Given the description of an element on the screen output the (x, y) to click on. 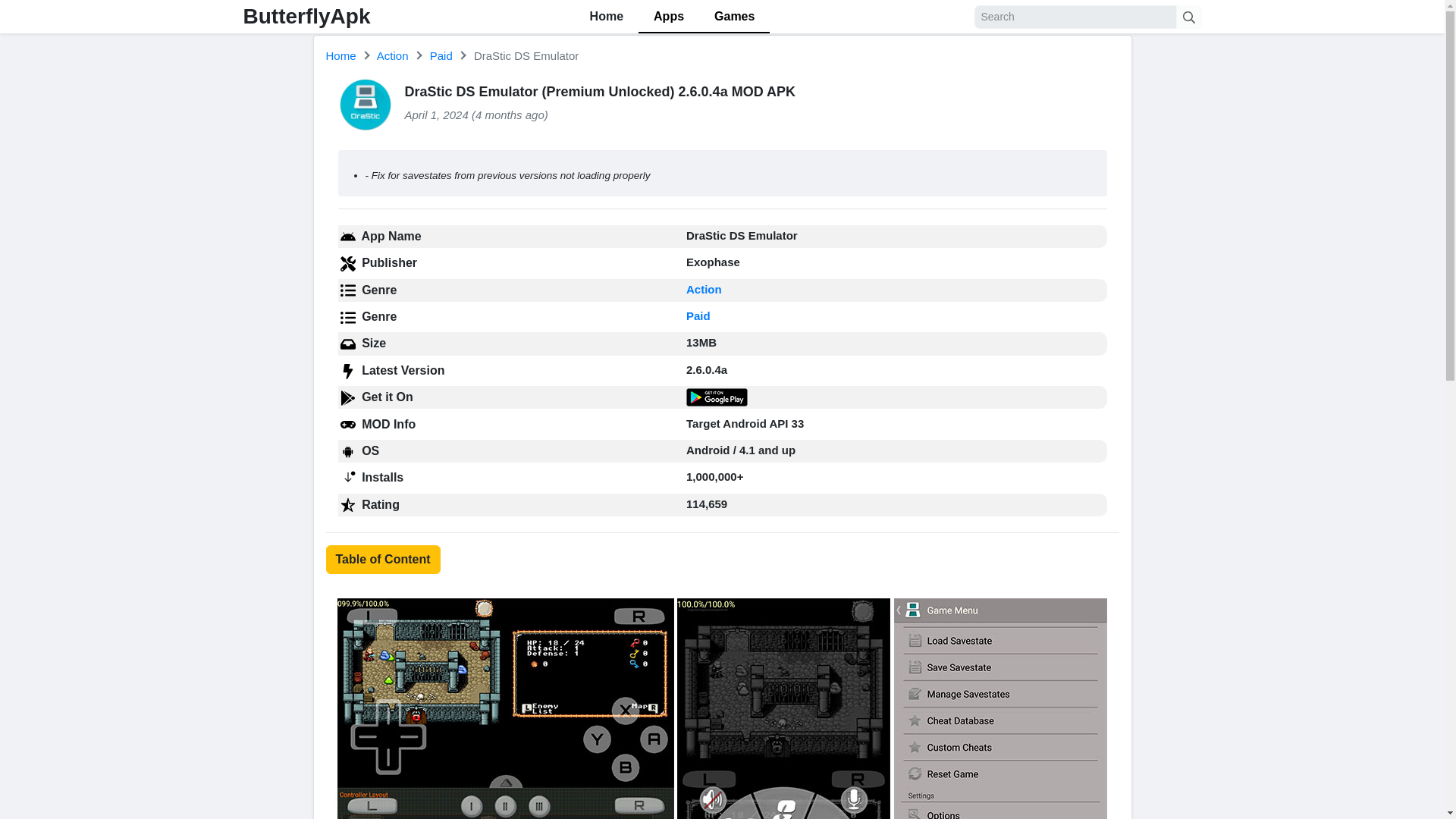
Table of Content (383, 559)
Home (341, 55)
Paid (697, 315)
Apps (668, 16)
Games (734, 16)
Paid (440, 55)
Action (703, 288)
ButterflyApk (306, 15)
Home (341, 55)
Action (393, 55)
Home (607, 16)
